Given the description of an element on the screen output the (x, y) to click on. 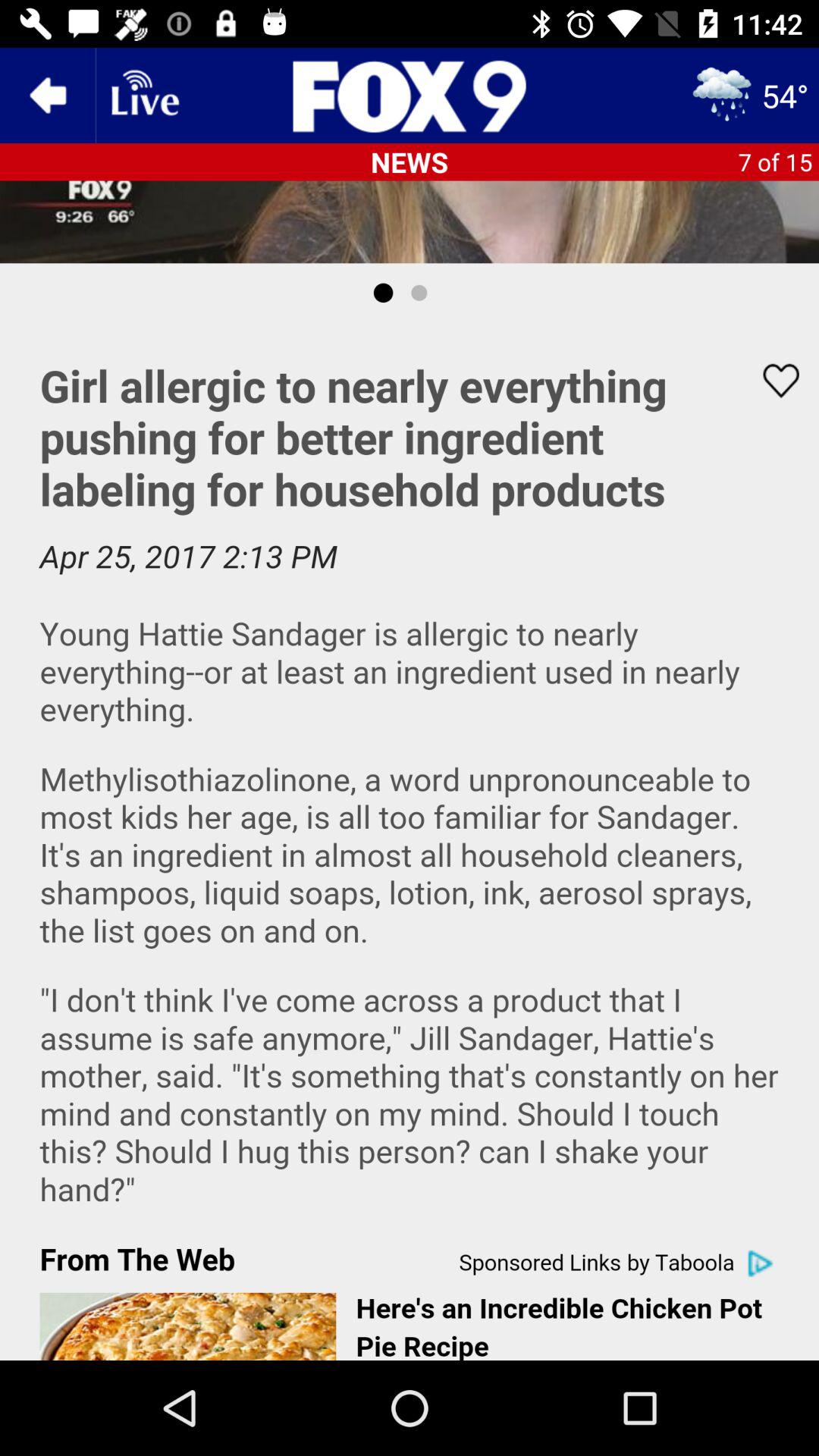
advertisement (409, 841)
